Given the description of an element on the screen output the (x, y) to click on. 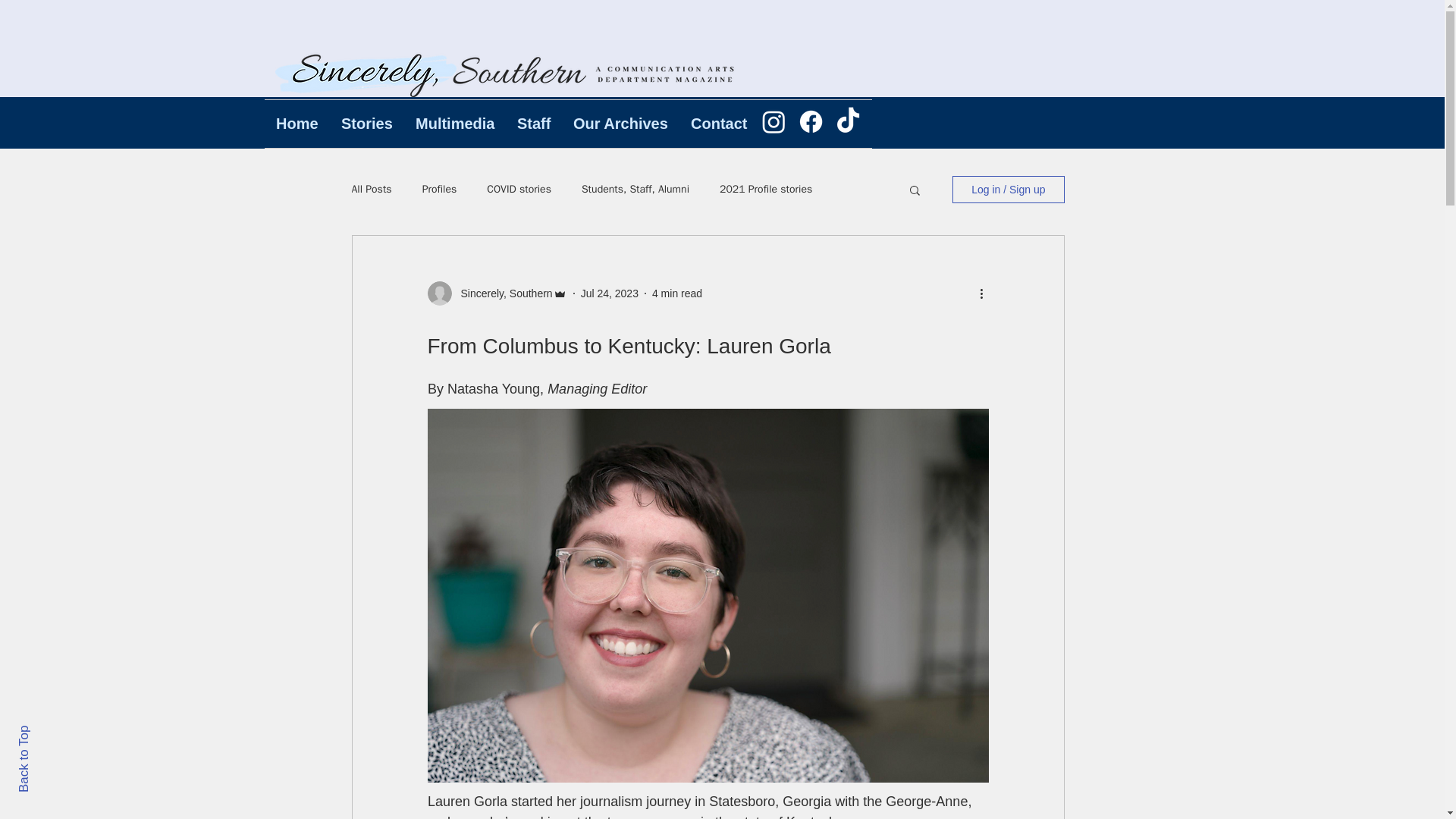
Contact (718, 123)
Multimedia (454, 123)
Profiles (439, 189)
All Posts (371, 189)
Back to Top (50, 731)
COVID stories (518, 189)
Stories (367, 123)
Sincerely, Southern (502, 293)
Our Archives (620, 123)
Jul 24, 2023 (609, 292)
Home (297, 123)
2021 Profile stories (765, 189)
4 min read (676, 292)
Staff (533, 123)
Students, Staff, Alumni (634, 189)
